Given the description of an element on the screen output the (x, y) to click on. 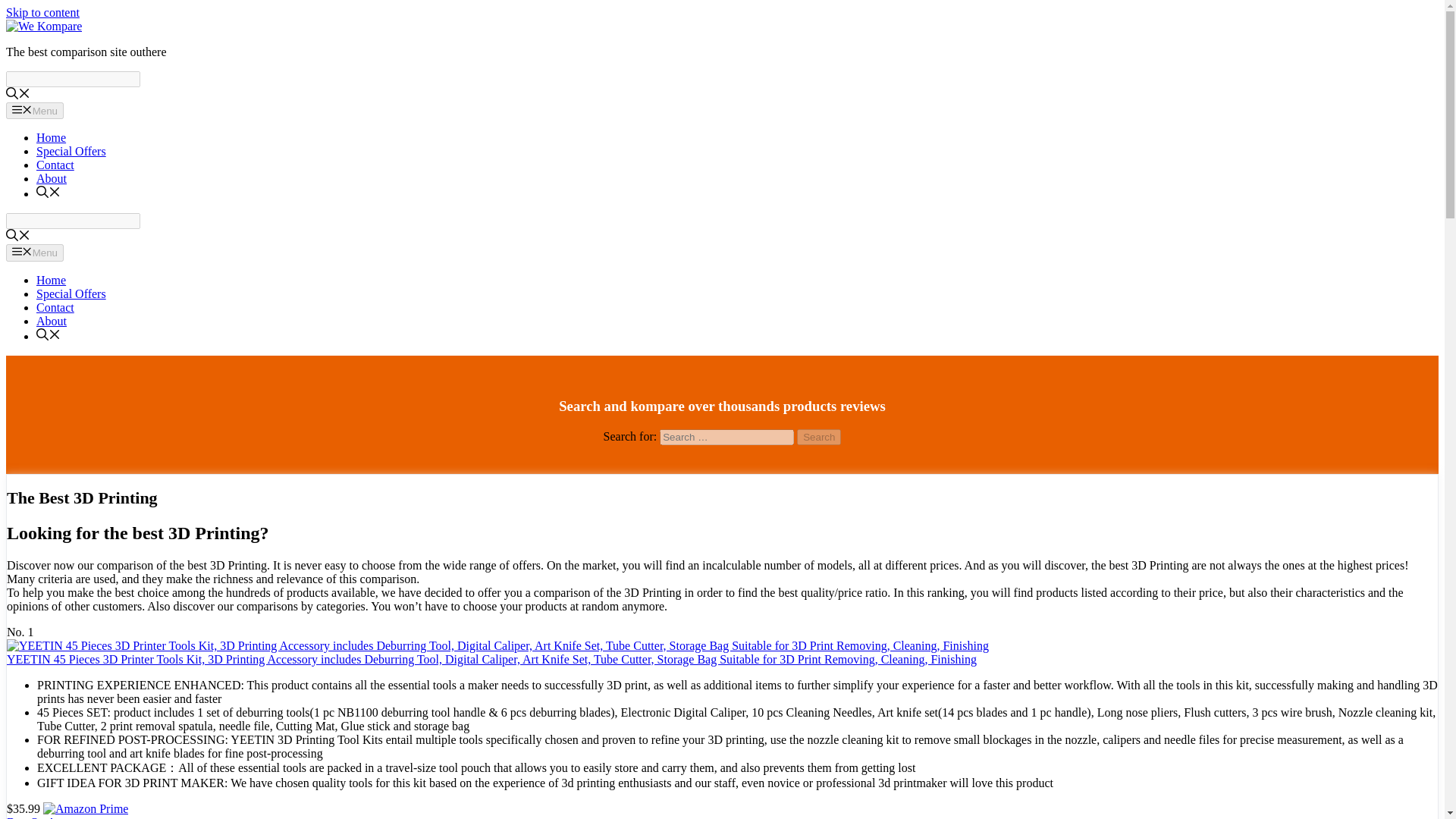
Menu (34, 110)
About (51, 178)
Search (818, 437)
Buy On Amazon (47, 817)
Special Offers (71, 151)
Home (50, 279)
Amazon Prime (85, 808)
About (51, 320)
Search (72, 78)
Skip to content (42, 11)
Home (50, 137)
Search for: (726, 437)
Search (818, 437)
Menu (34, 252)
